Given the description of an element on the screen output the (x, y) to click on. 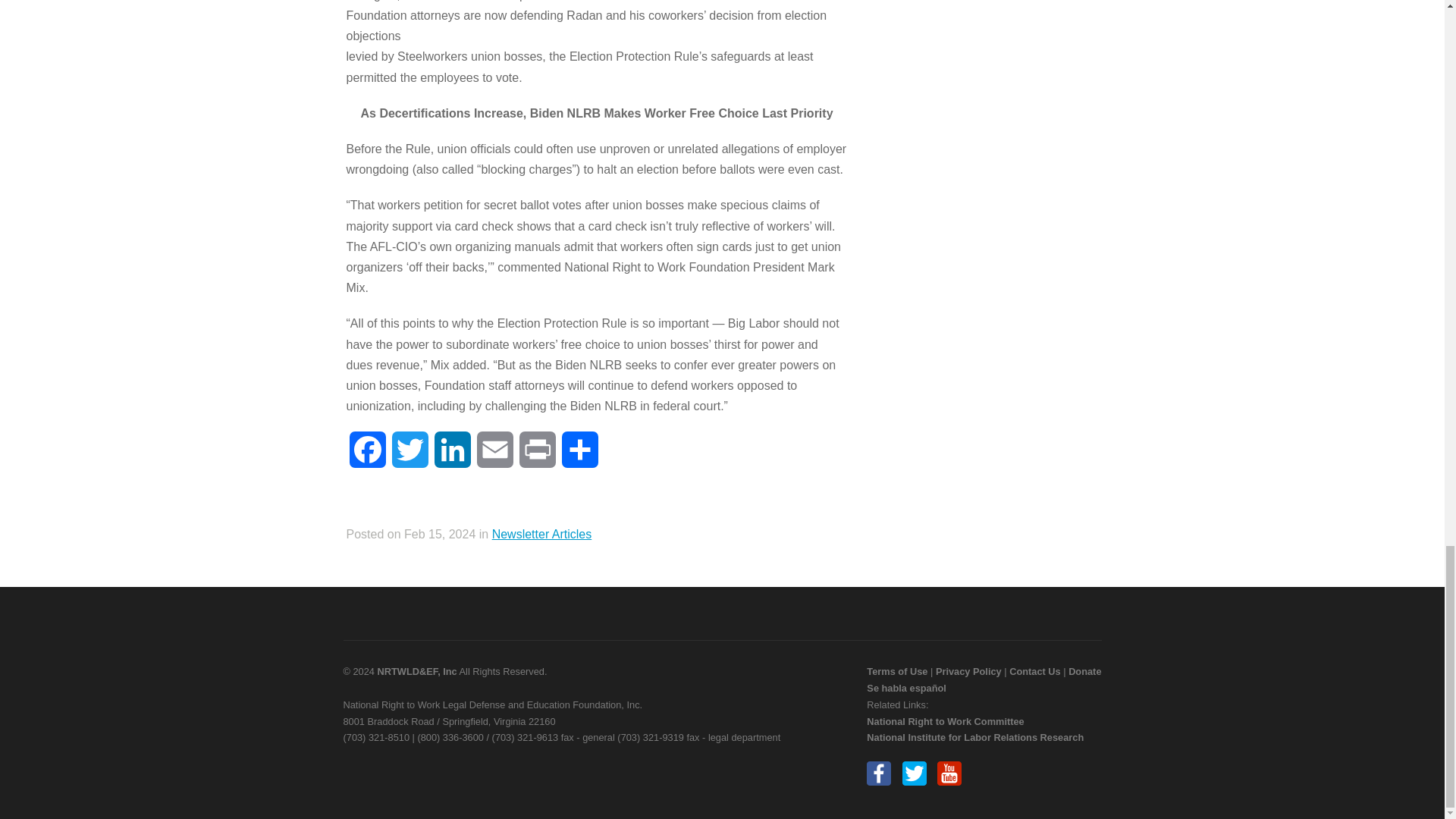
Newsletter Articles (542, 533)
Terms of Use (896, 671)
